Given the description of an element on the screen output the (x, y) to click on. 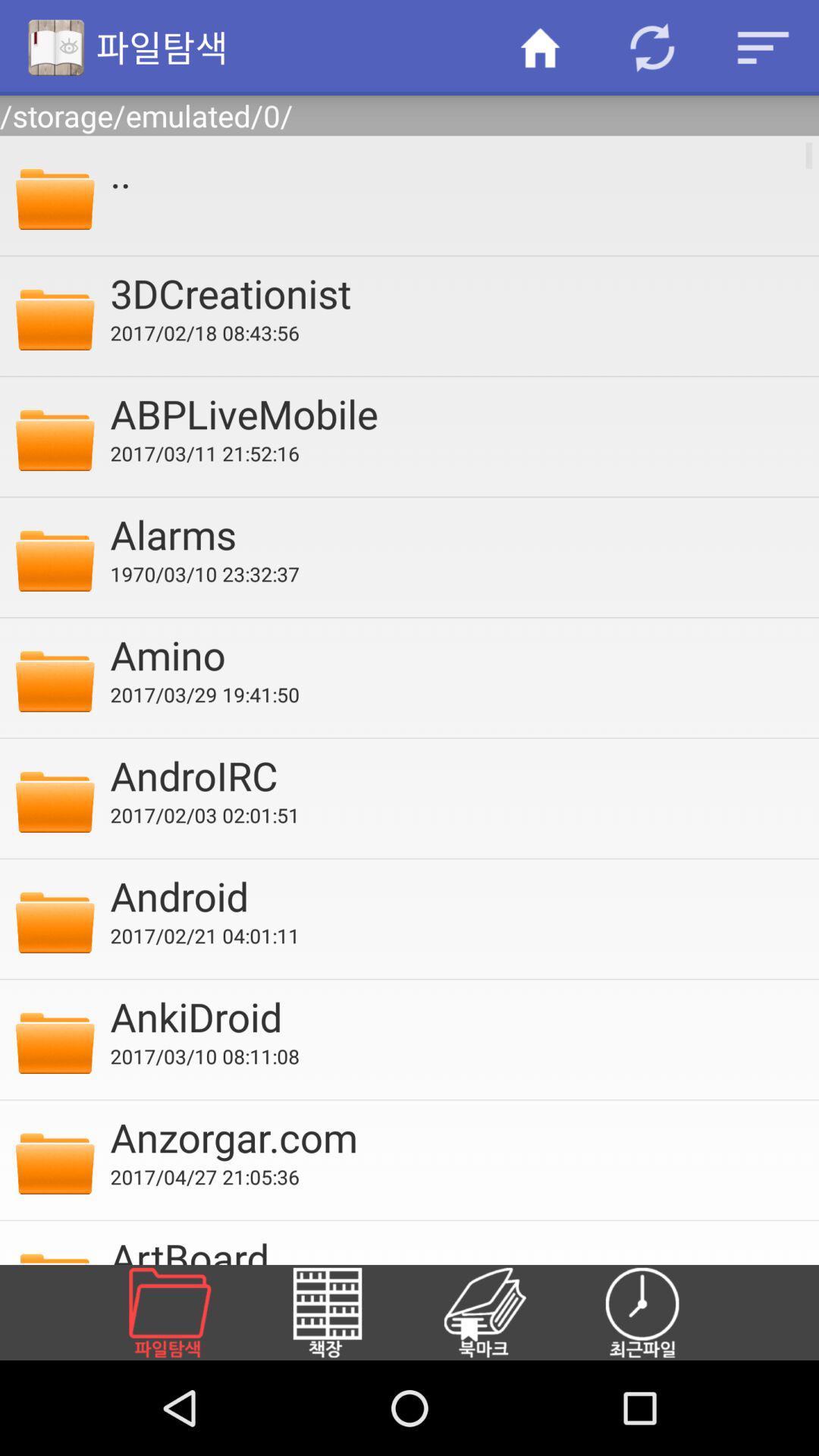
tap the item above the 3dcreationist (454, 172)
